Given the description of an element on the screen output the (x, y) to click on. 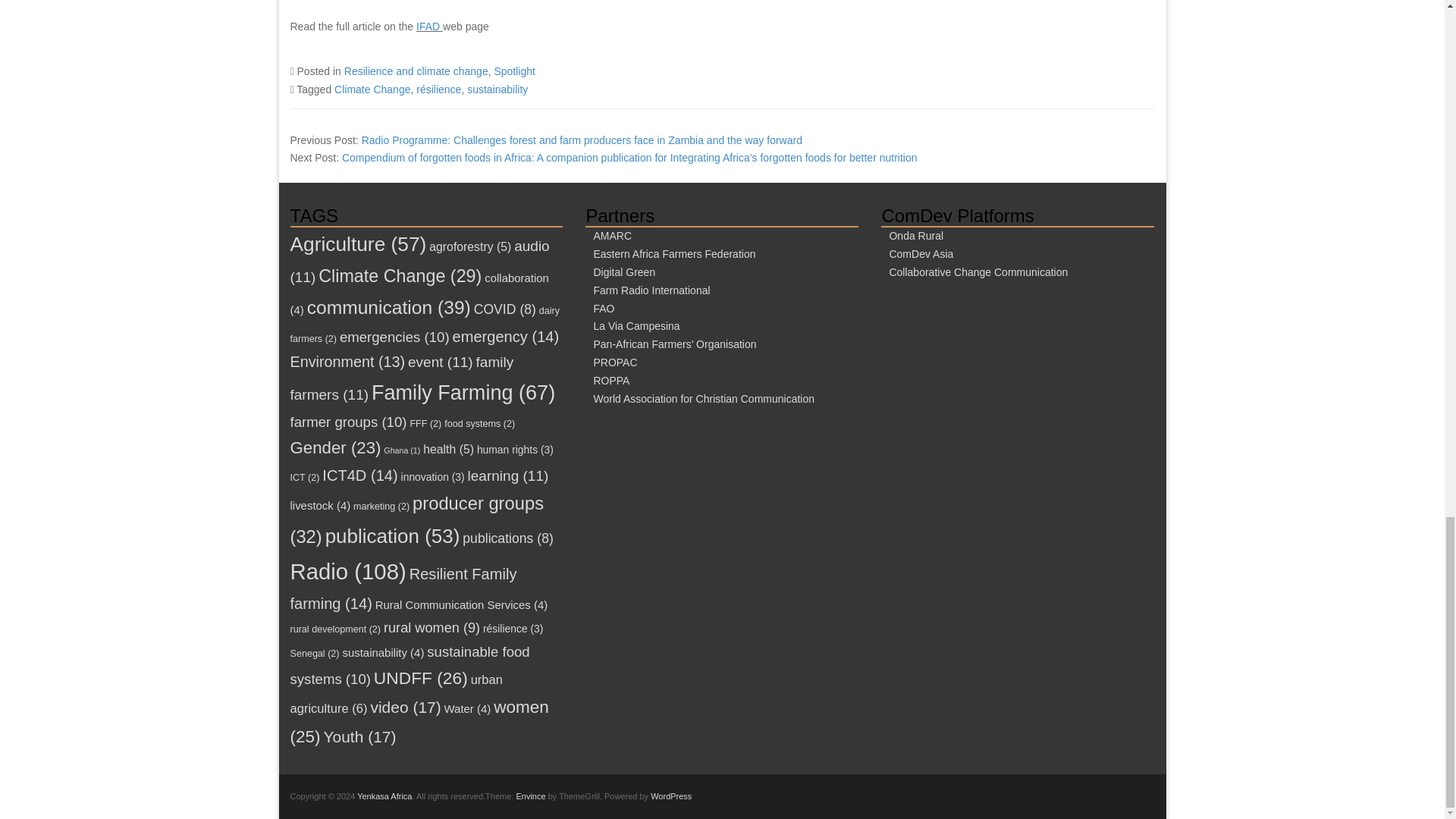
IFAD  (429, 26)
Climate Change (372, 89)
sustainability (497, 89)
Spotlight (513, 70)
Resilience and climate change (415, 70)
